Given the description of an element on the screen output the (x, y) to click on. 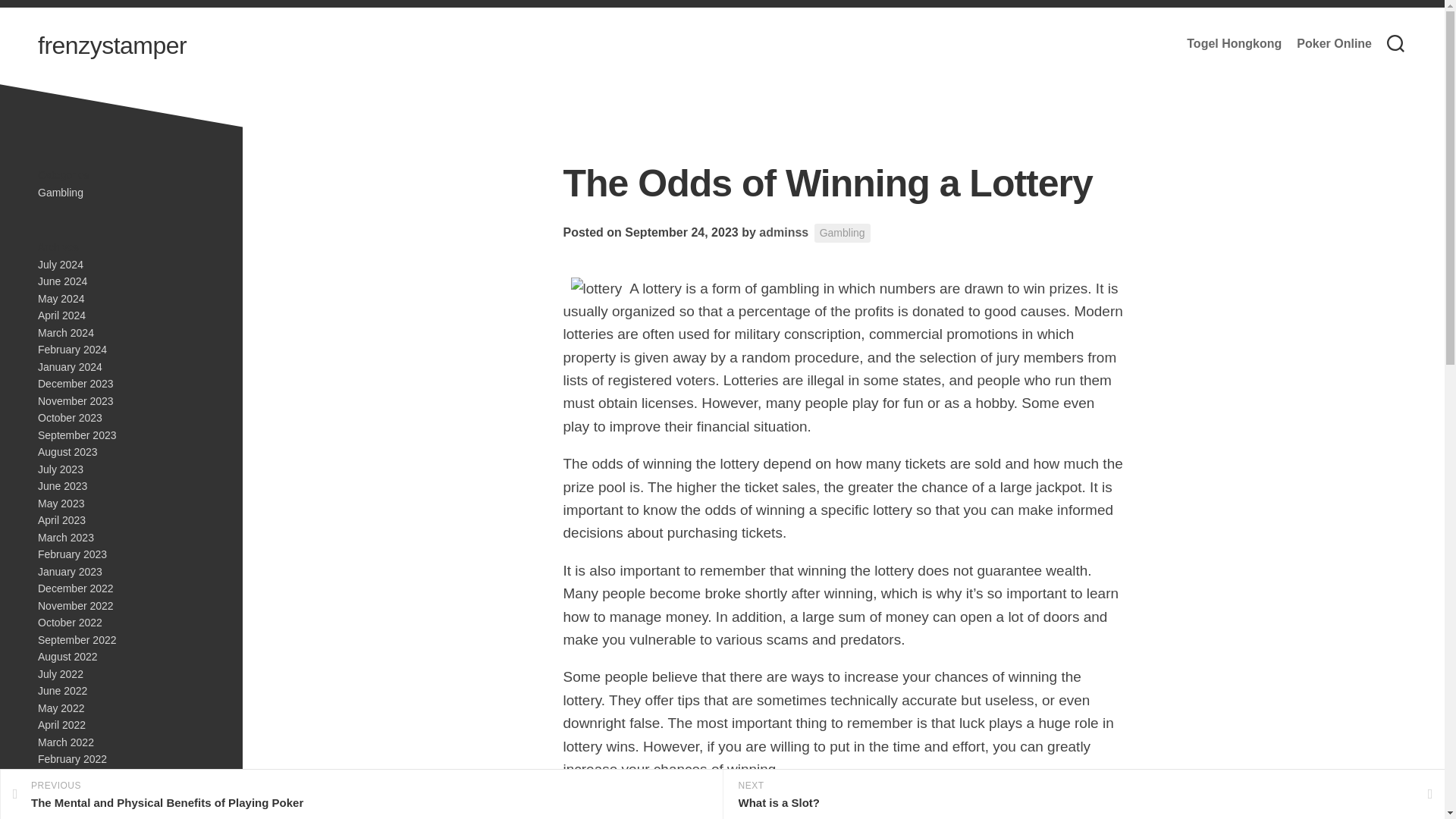
Gambling (841, 232)
Posts by adminss (783, 232)
May 2024 (60, 298)
April 2024 (361, 794)
February 2024 (61, 315)
December 2022 (71, 349)
September 2022 (75, 588)
adminss (76, 639)
August 2023 (783, 232)
July 2024 (67, 451)
February 2023 (59, 263)
Togel Hongkong (71, 553)
November 2022 (1233, 43)
March 2024 (75, 604)
